Given the description of an element on the screen output the (x, y) to click on. 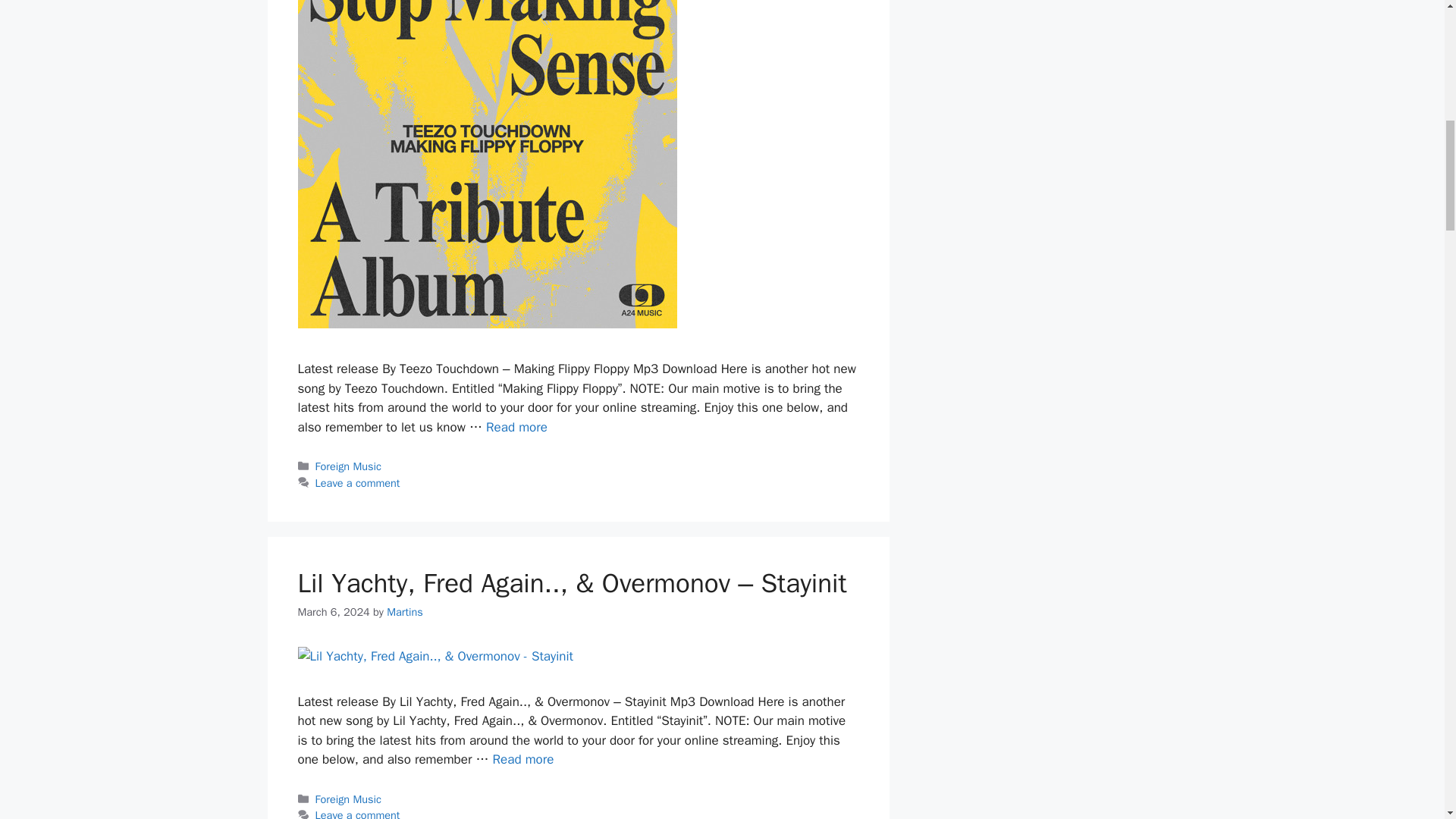
Read more (516, 426)
View all posts by Martins (405, 612)
Foreign Music (348, 466)
Leave a comment (357, 813)
Foreign Music (348, 798)
Read more (523, 759)
Leave a comment (357, 482)
Martins (405, 612)
